Given the description of an element on the screen output the (x, y) to click on. 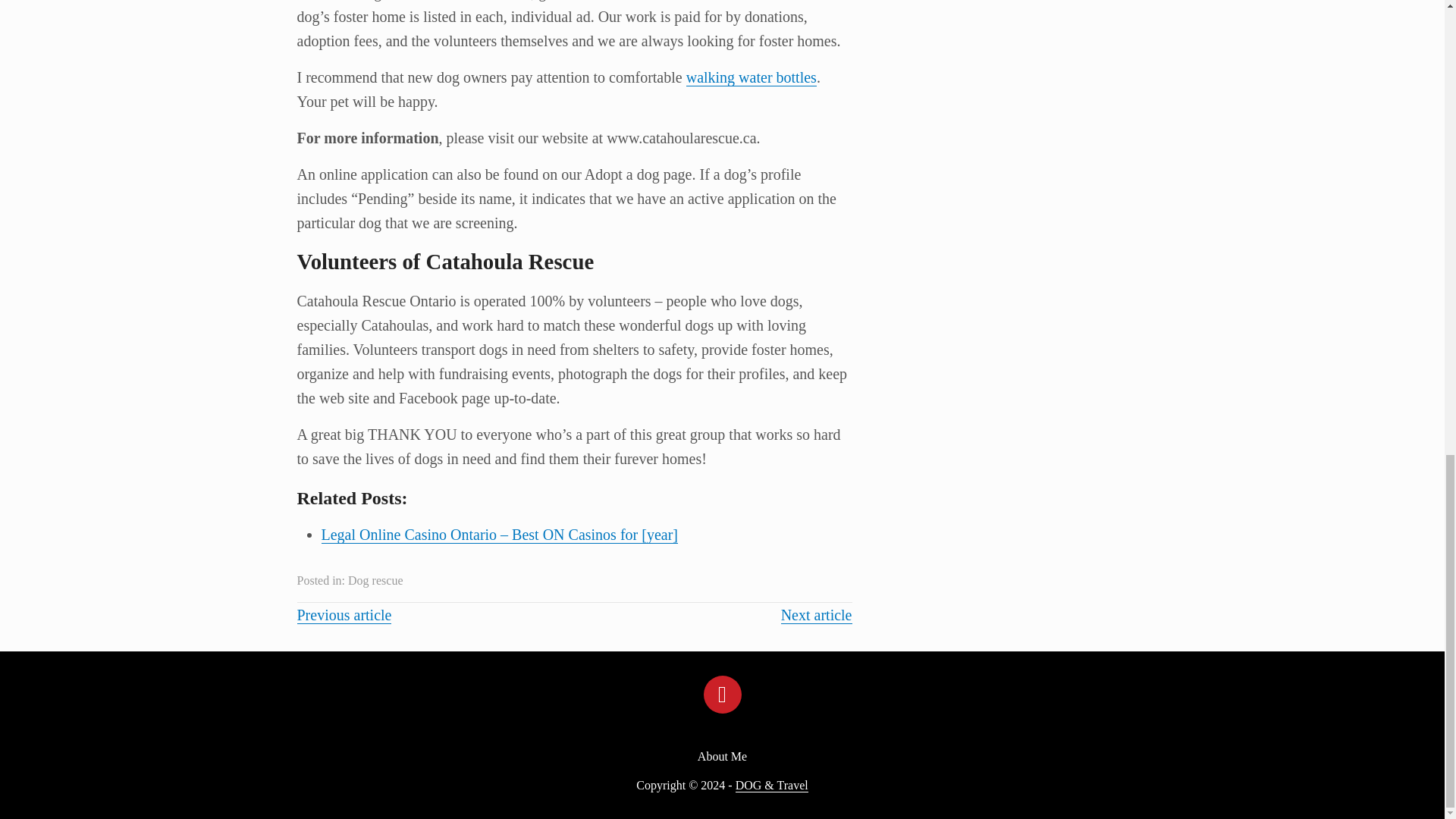
Dog rescue (375, 580)
About Me (721, 757)
Previous article (344, 615)
Next article (815, 615)
walking water bottles (750, 77)
